Given the description of an element on the screen output the (x, y) to click on. 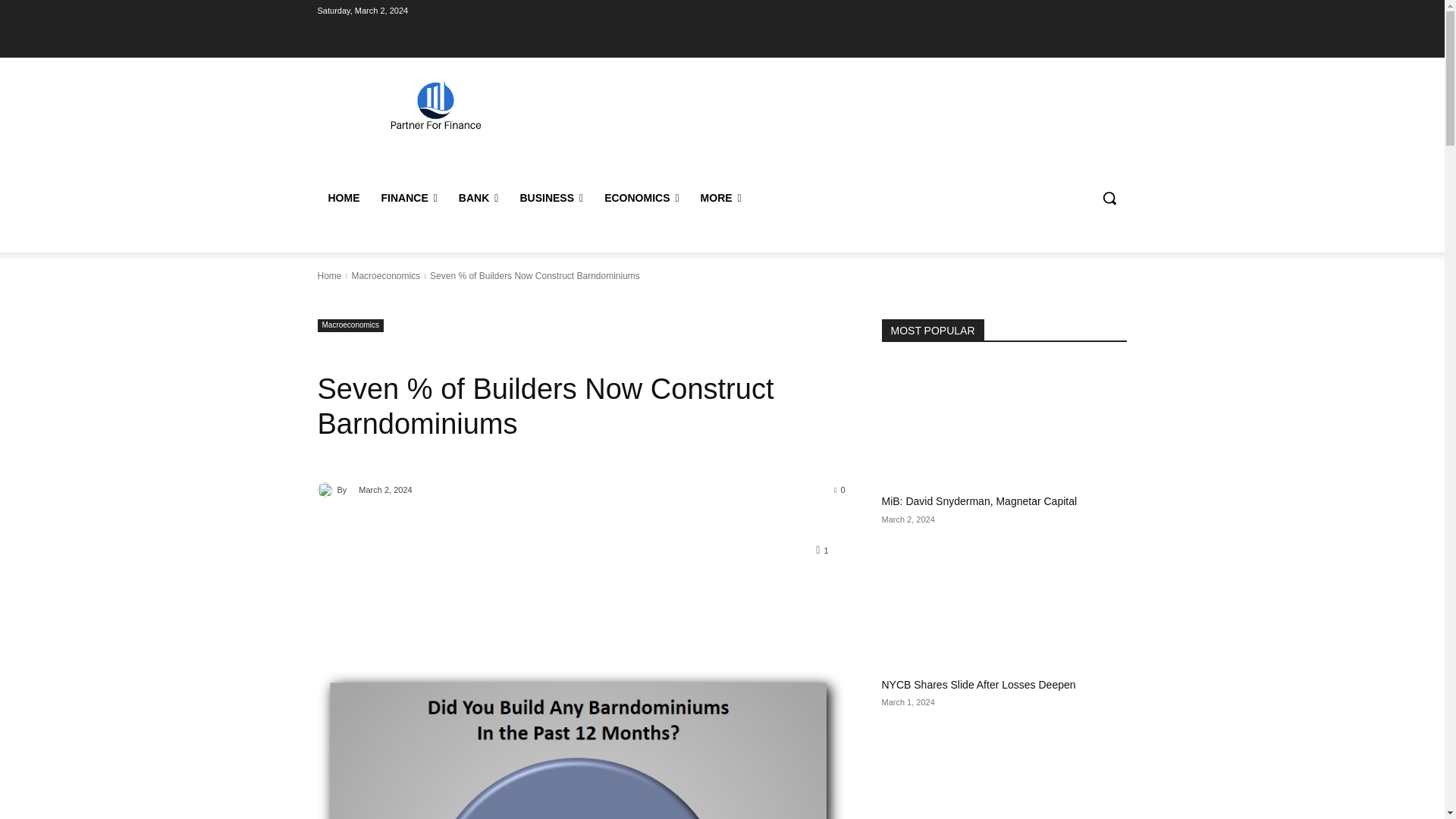
BANK (478, 197)
HOME (343, 197)
View all posts in Macroeconomics (385, 276)
FINANCE (407, 197)
